Given the description of an element on the screen output the (x, y) to click on. 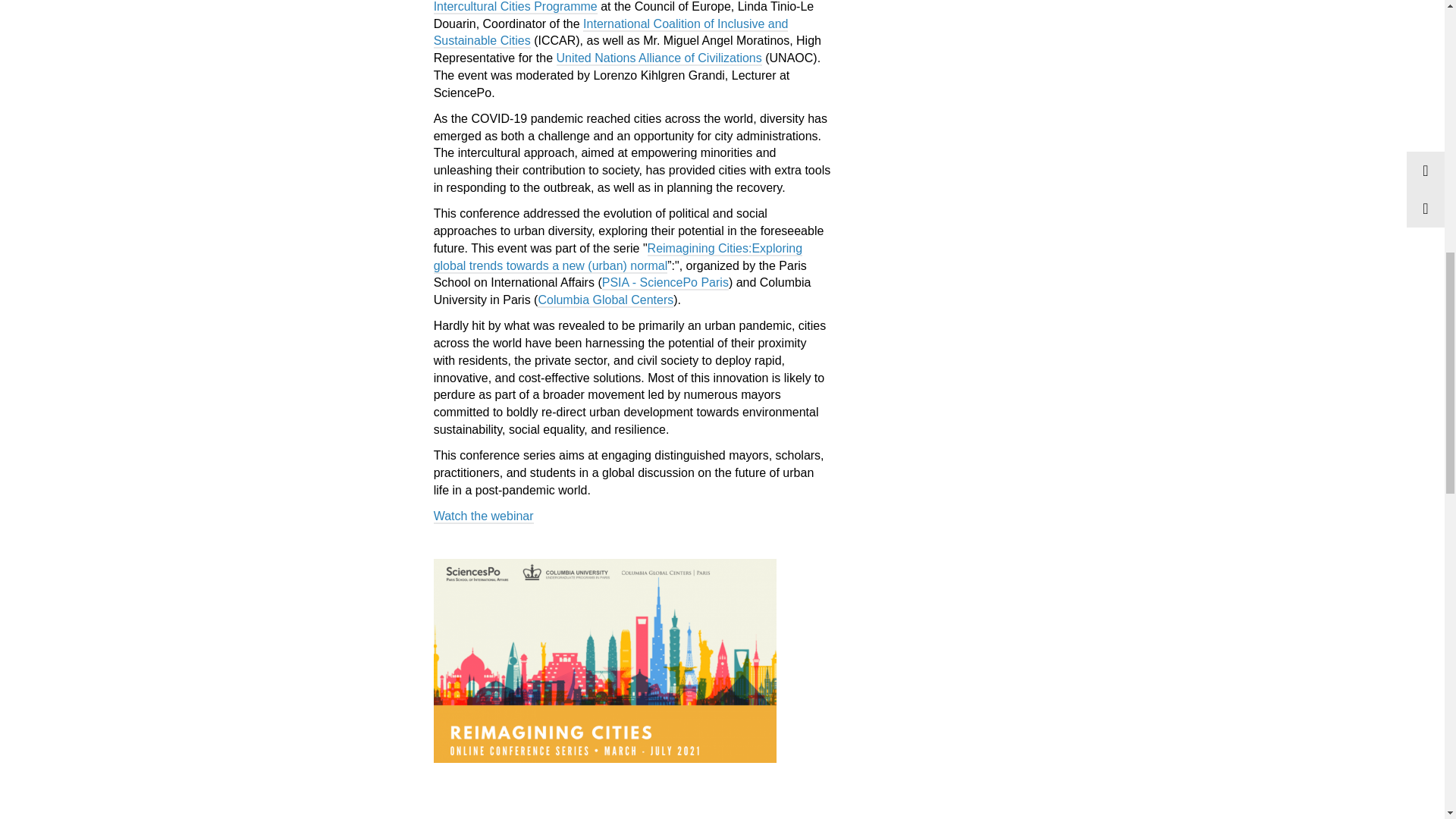
United Nations Alliance of Civilizations (658, 58)
Intercultural Cities Programme (514, 7)
International Coalition of Inclusive and Sustainable Cities (611, 33)
